Given the description of an element on the screen output the (x, y) to click on. 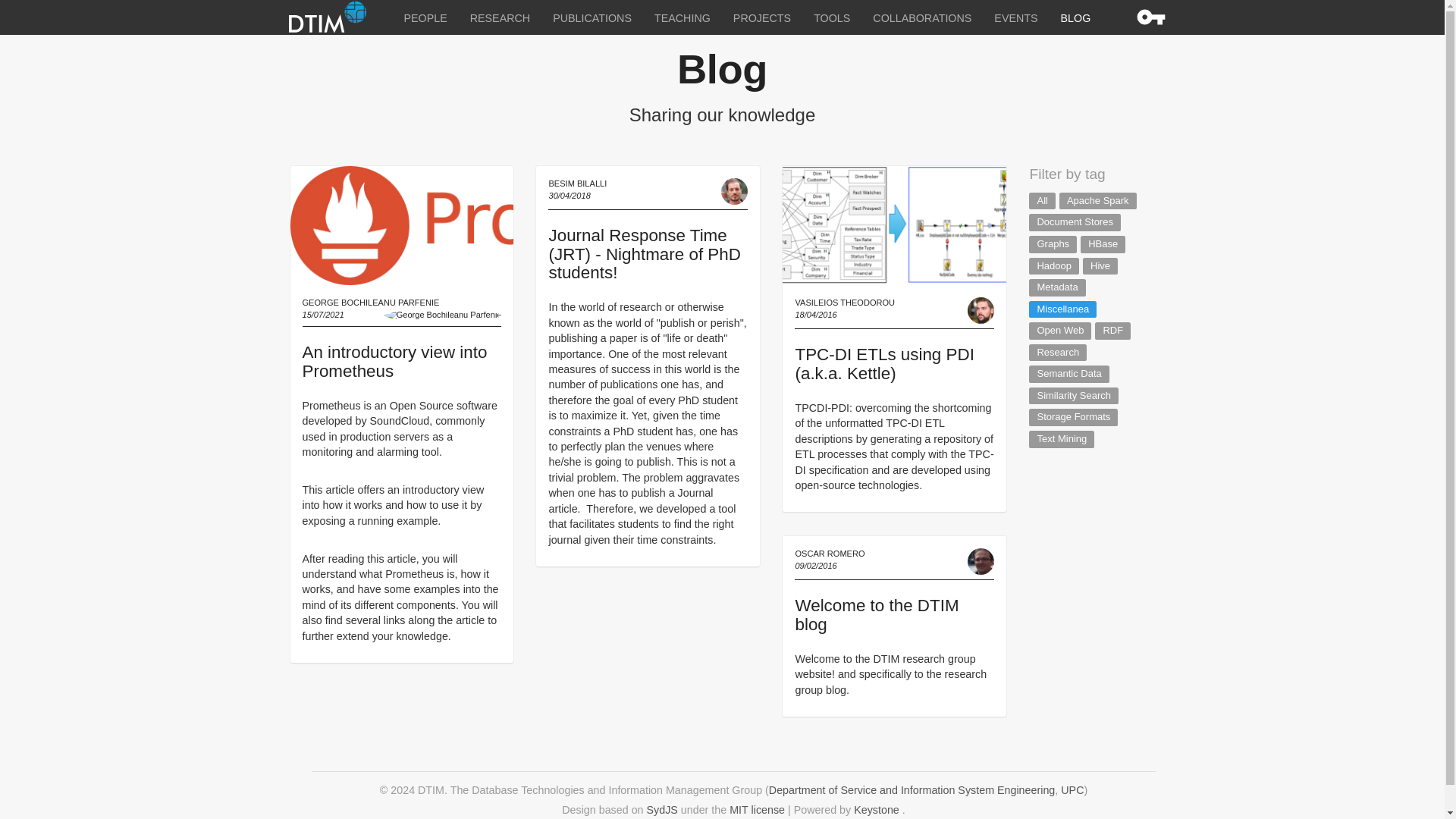
Vasileios Theodorou (981, 309)
Graphs (1053, 244)
EVENTS (1015, 17)
Document Stores (1074, 221)
BLOG (1075, 17)
Hive (1100, 266)
PEOPLE (425, 17)
HBase (1102, 244)
COLLABORATIONS (921, 17)
TEACHING (682, 17)
RDF (1112, 330)
Welcome to the DTIM blog (876, 614)
RESEARCH (499, 17)
Hadoop (1053, 266)
PROJECTS (762, 17)
